Given the description of an element on the screen output the (x, y) to click on. 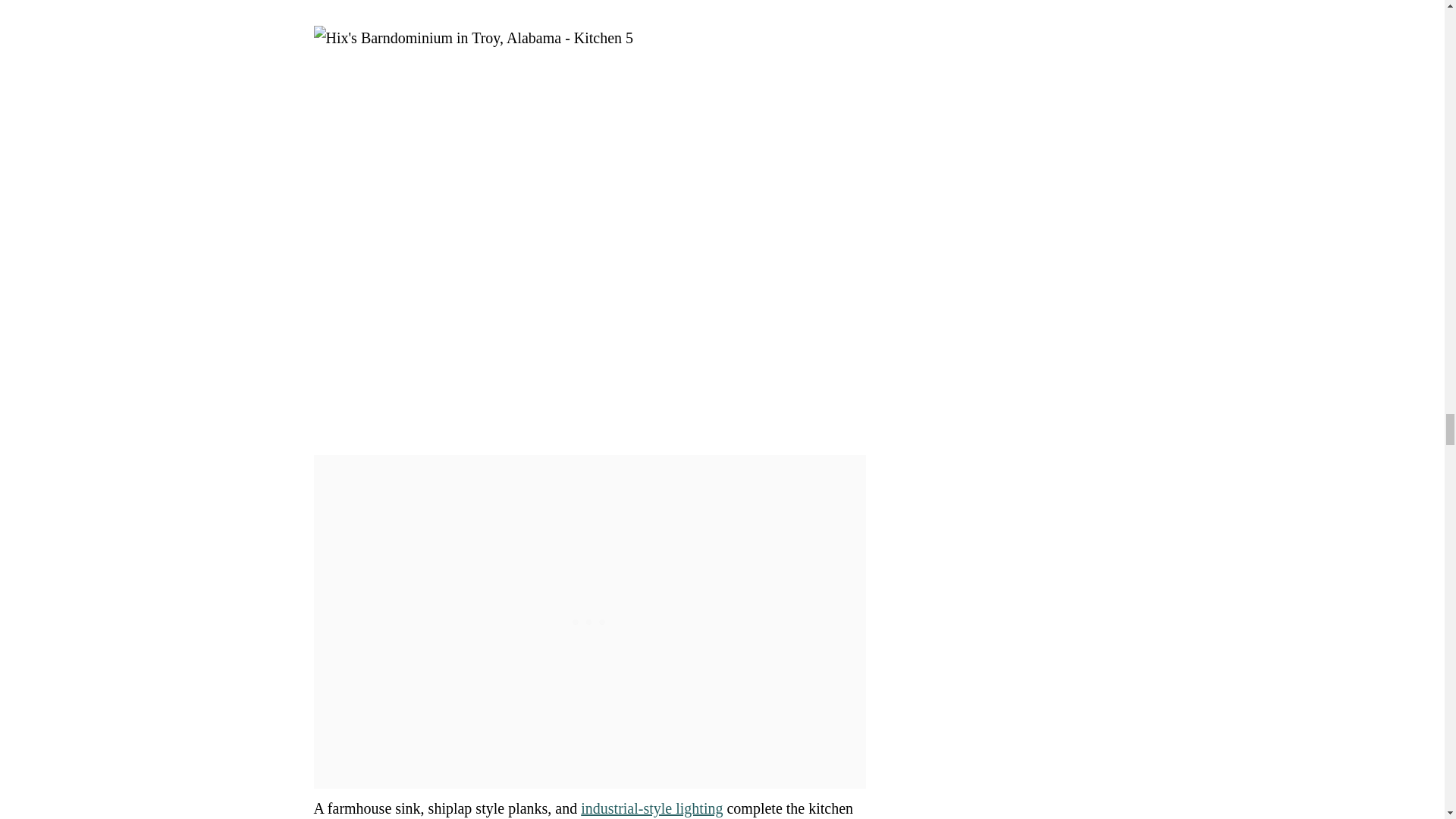
industrial-style lighting (651, 808)
